Given the description of an element on the screen output the (x, y) to click on. 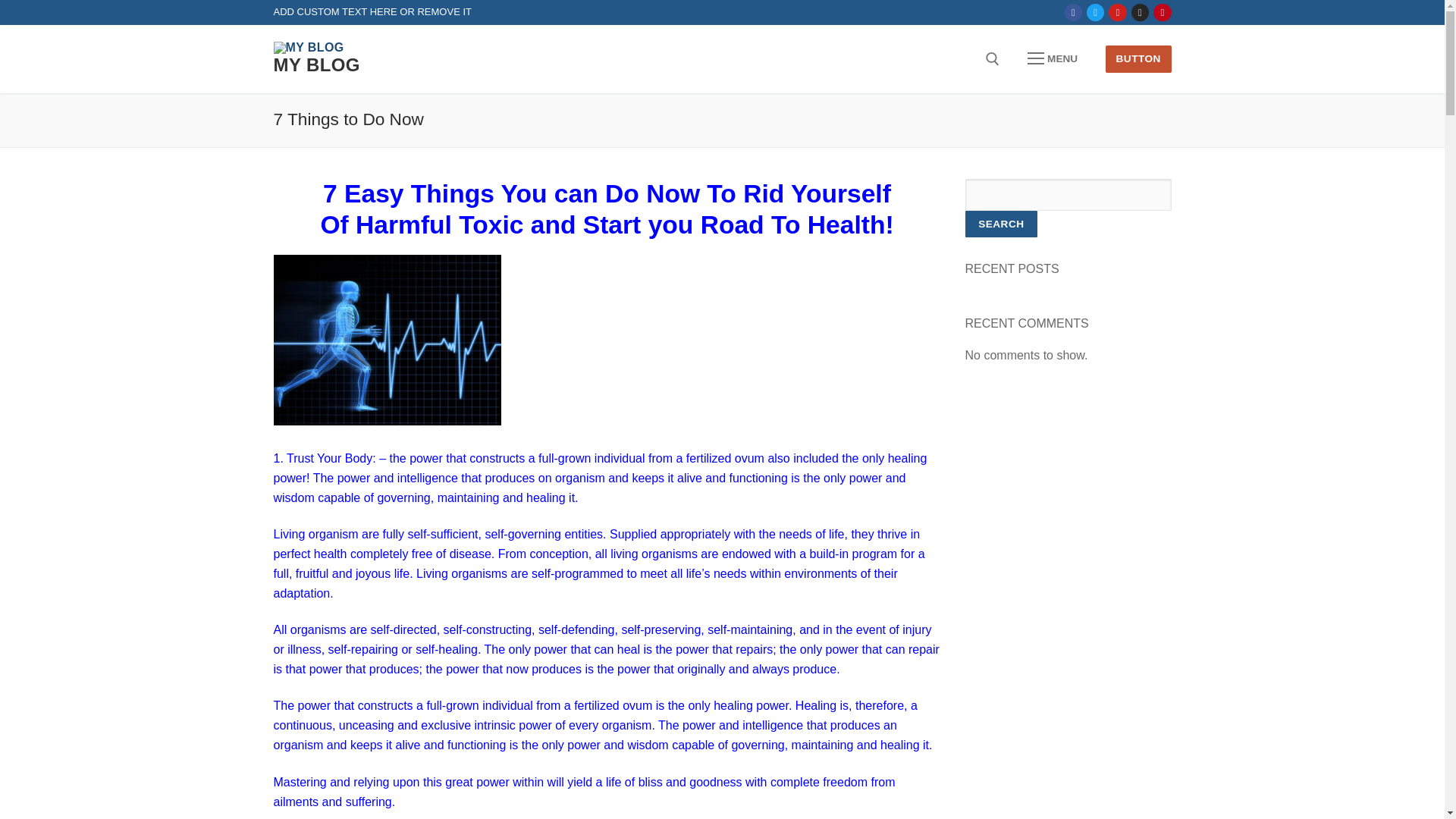
SEARCH (999, 223)
MY BLOG (316, 65)
Youtube (1117, 12)
Pinterest (1162, 12)
MENU (1052, 59)
Twitter (1095, 12)
Facebook (1073, 12)
BUTTON (1138, 59)
Instagram (1139, 12)
